Given the description of an element on the screen output the (x, y) to click on. 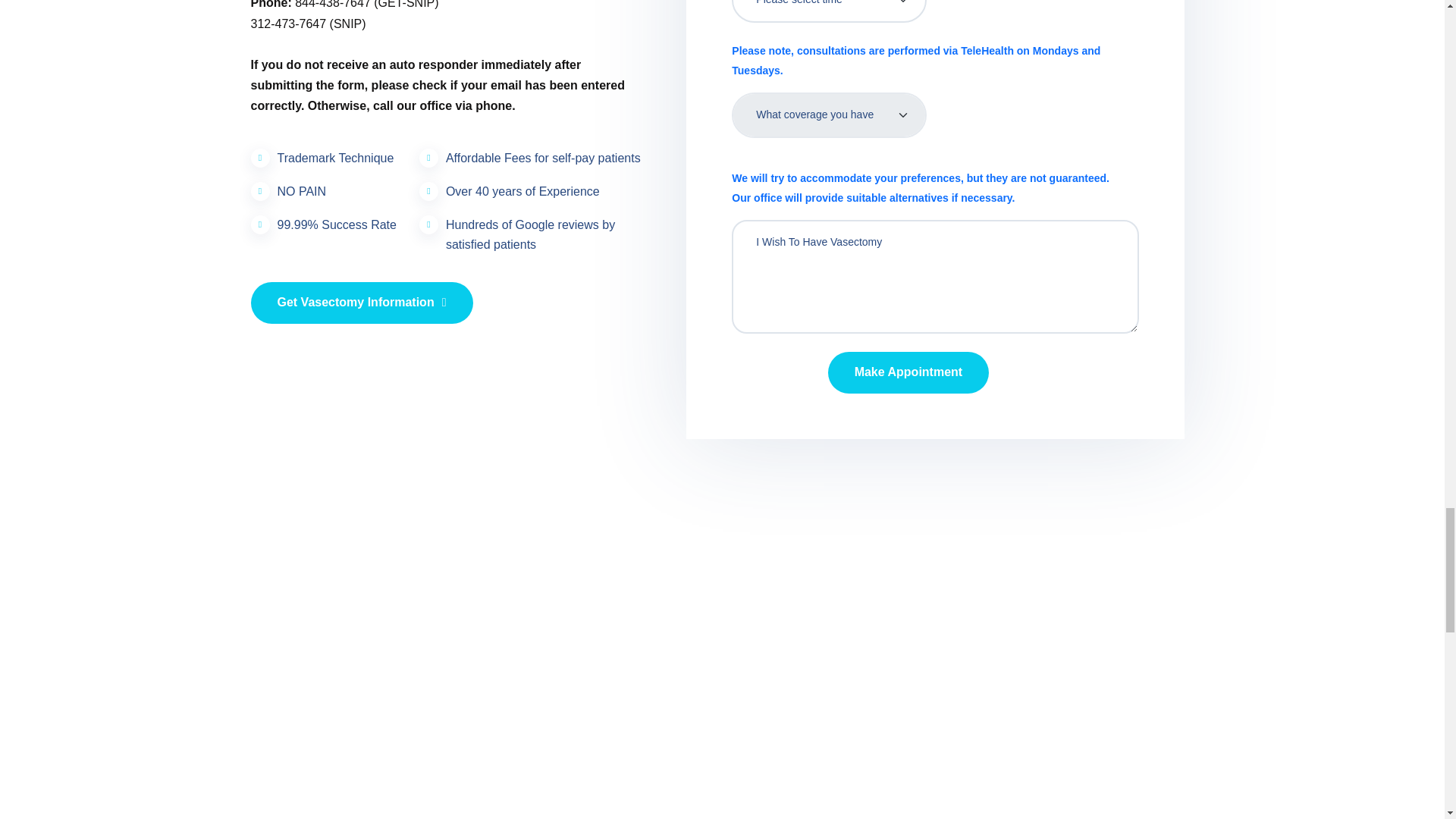
Make Appointment (909, 372)
